Given the description of an element on the screen output the (x, y) to click on. 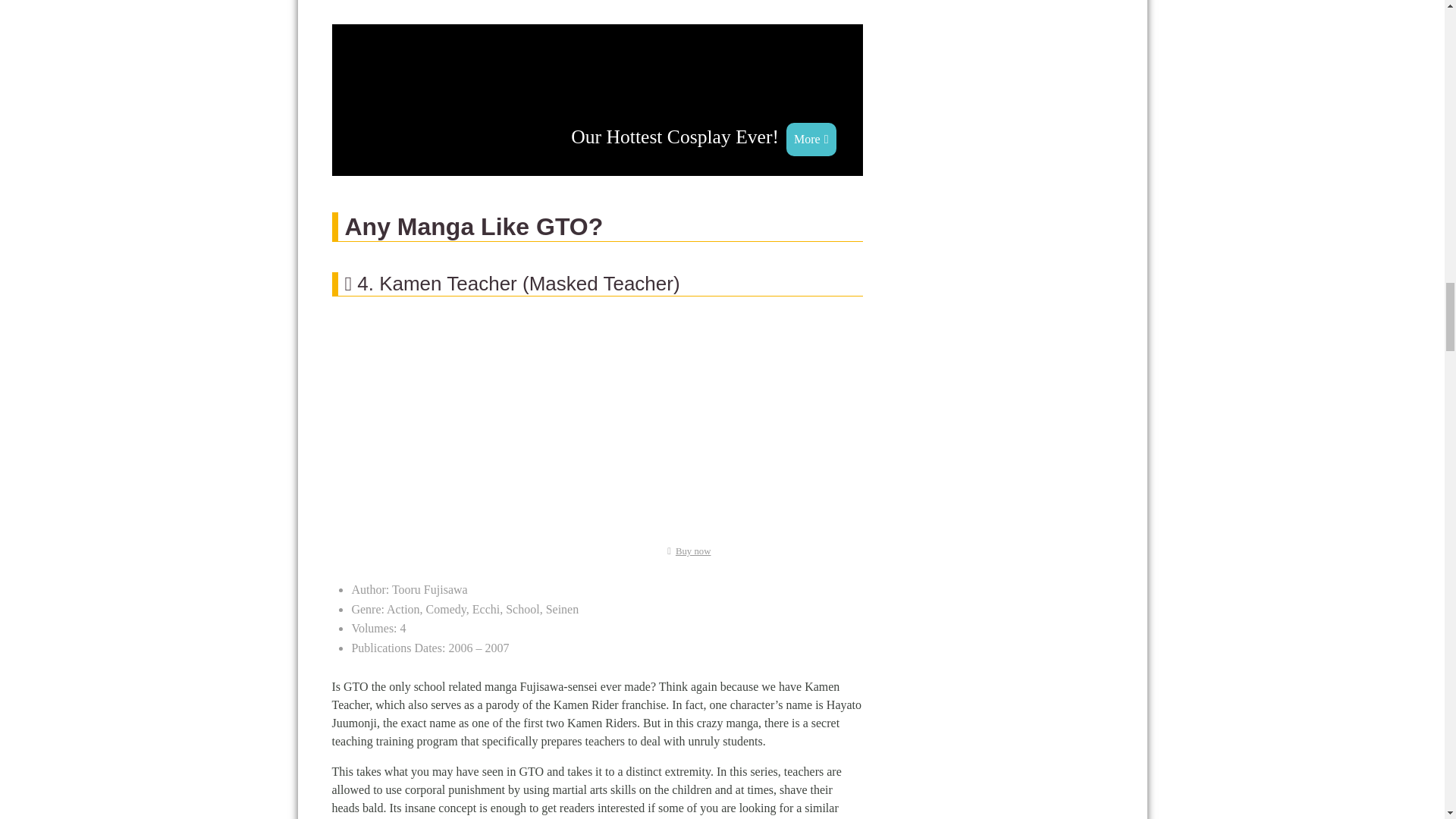
Buy now (686, 551)
